Given the description of an element on the screen output the (x, y) to click on. 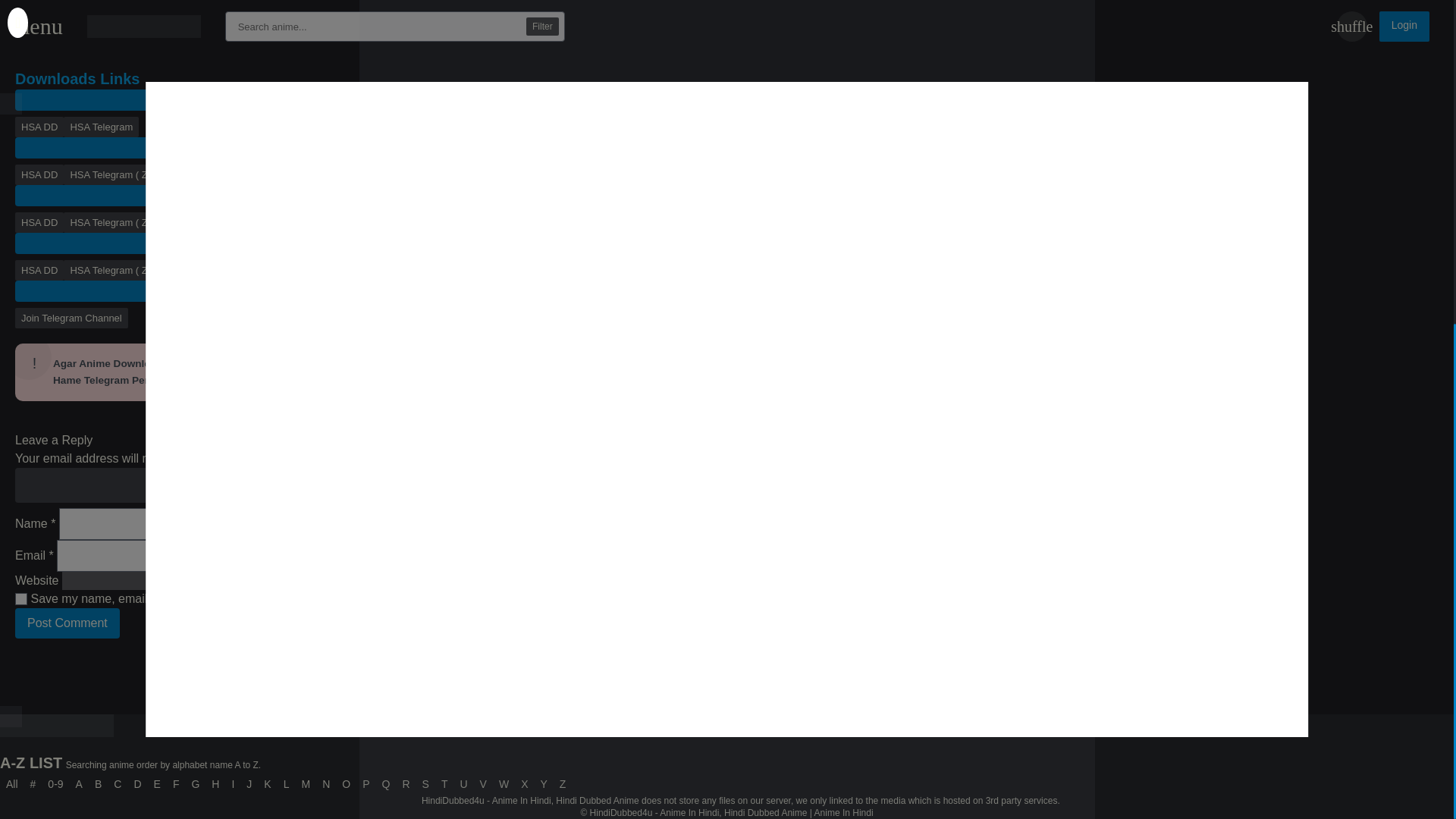
Post Comment (66, 623)
yes (20, 598)
Advertising banners   (726, 237)
Close this ad (10, 180)
